Given the description of an element on the screen output the (x, y) to click on. 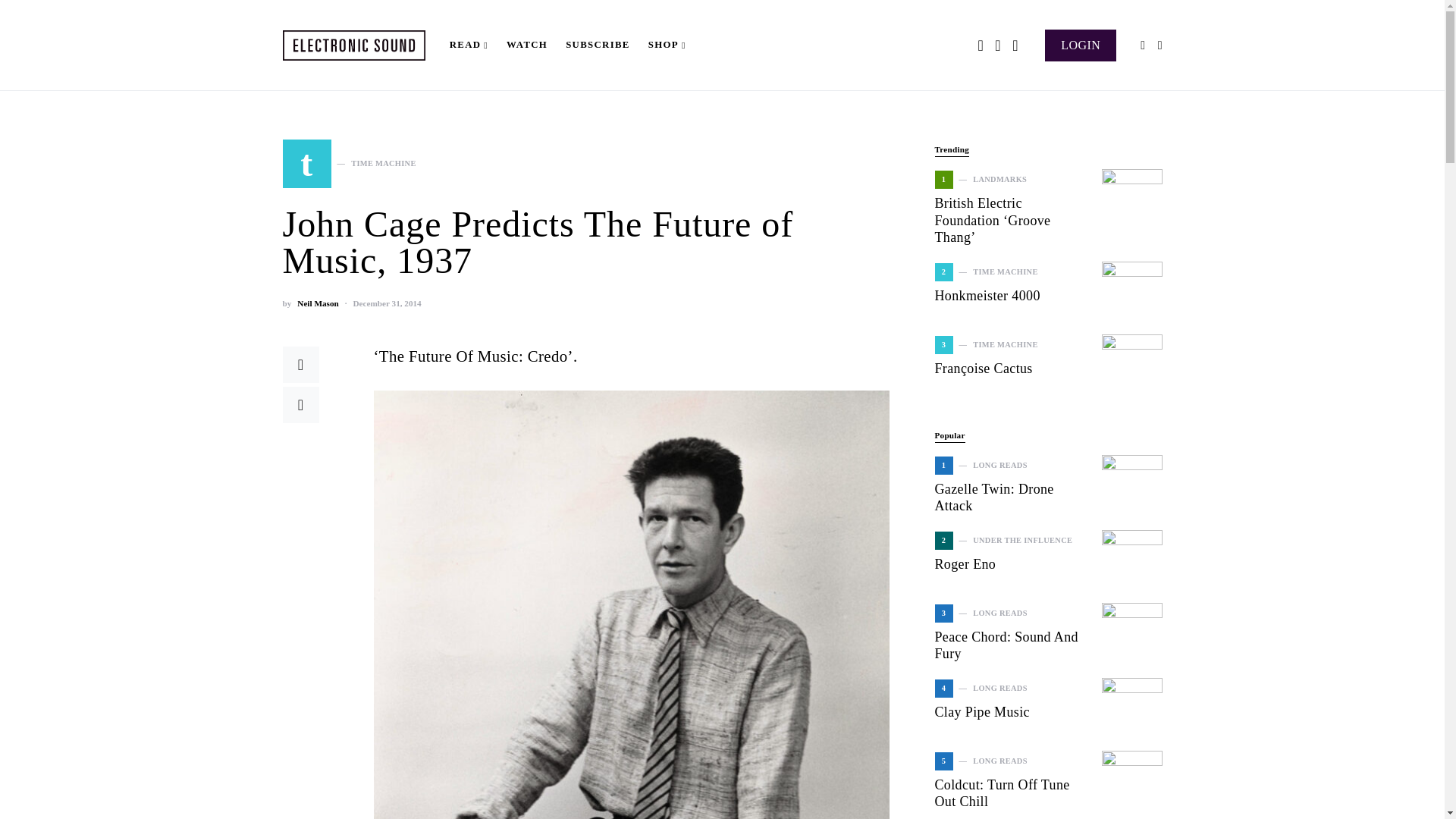
View all posts by Neil Mason (317, 303)
SUBSCRIBE (597, 45)
Neil Mason (348, 163)
LOGIN (317, 303)
